Given the description of an element on the screen output the (x, y) to click on. 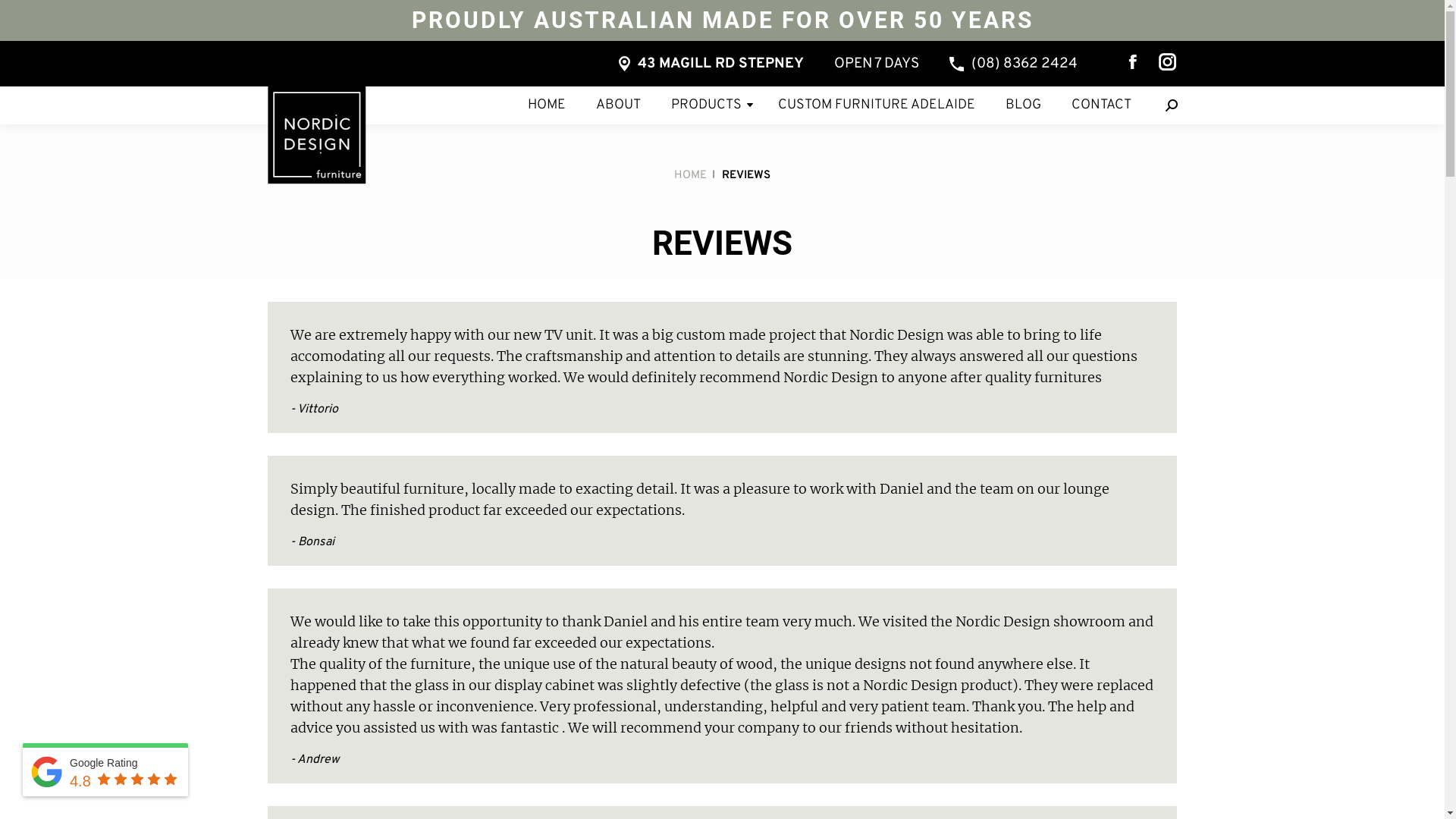
BLOG Element type: text (1023, 105)
Instagram page opens in new window Element type: text (1166, 61)
CONTACT Element type: text (1100, 105)
HOME Element type: text (690, 175)
PRODUCTS Element type: text (705, 105)
OPEN 7 DAYS Element type: text (876, 63)
(08) 8362 2424 Element type: text (1013, 63)
ABOUT Element type: text (617, 105)
Go! Element type: text (18, 15)
43 MAGILL RD STEPNEY Element type: text (710, 63)
HOME Element type: text (546, 105)
Facebook page opens in new window Element type: text (1132, 61)
CUSTOM FURNITURE ADELAIDE Element type: text (876, 105)
